Given the description of an element on the screen output the (x, y) to click on. 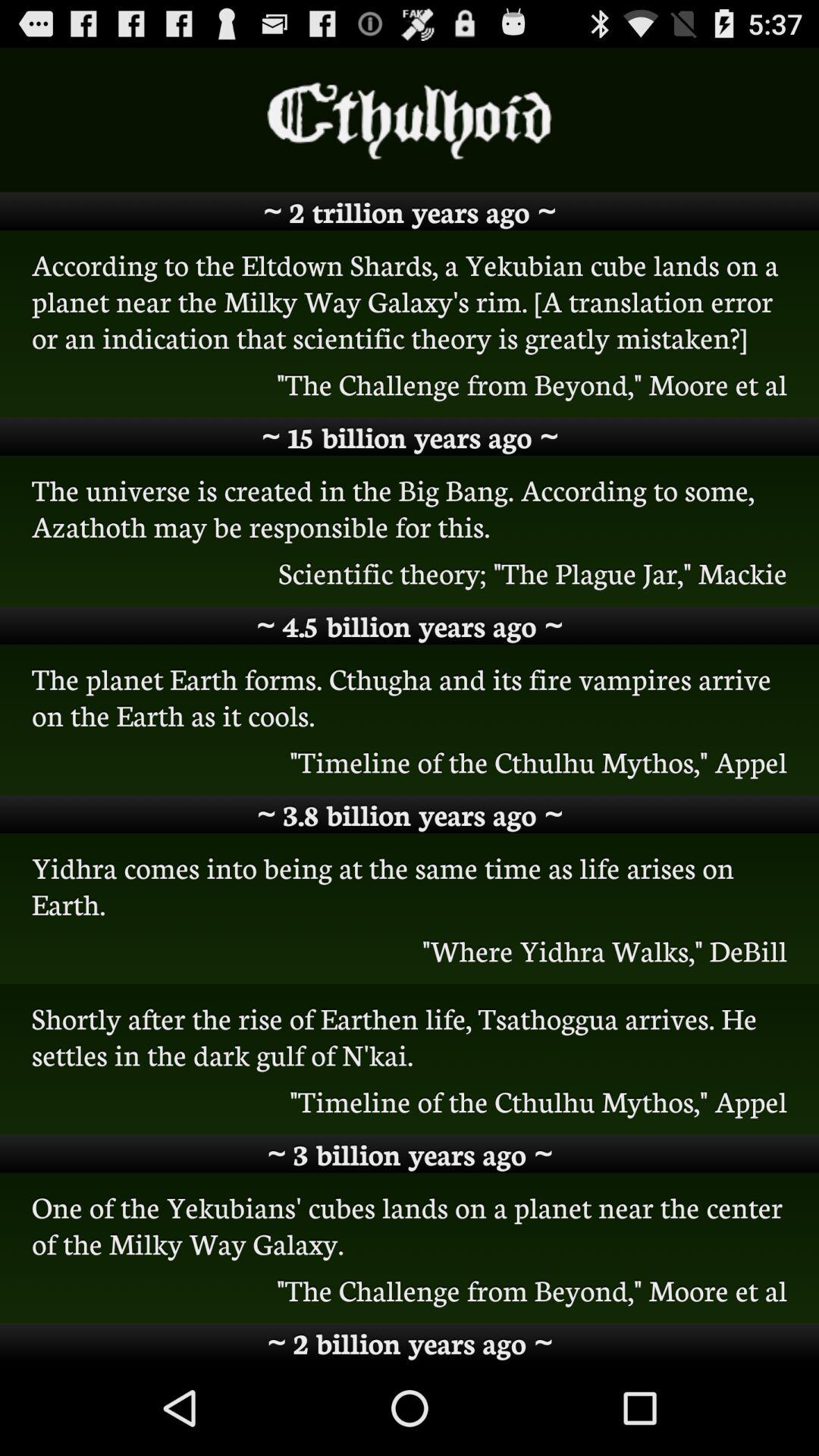
tap the scientific theory the icon (409, 572)
